Given the description of an element on the screen output the (x, y) to click on. 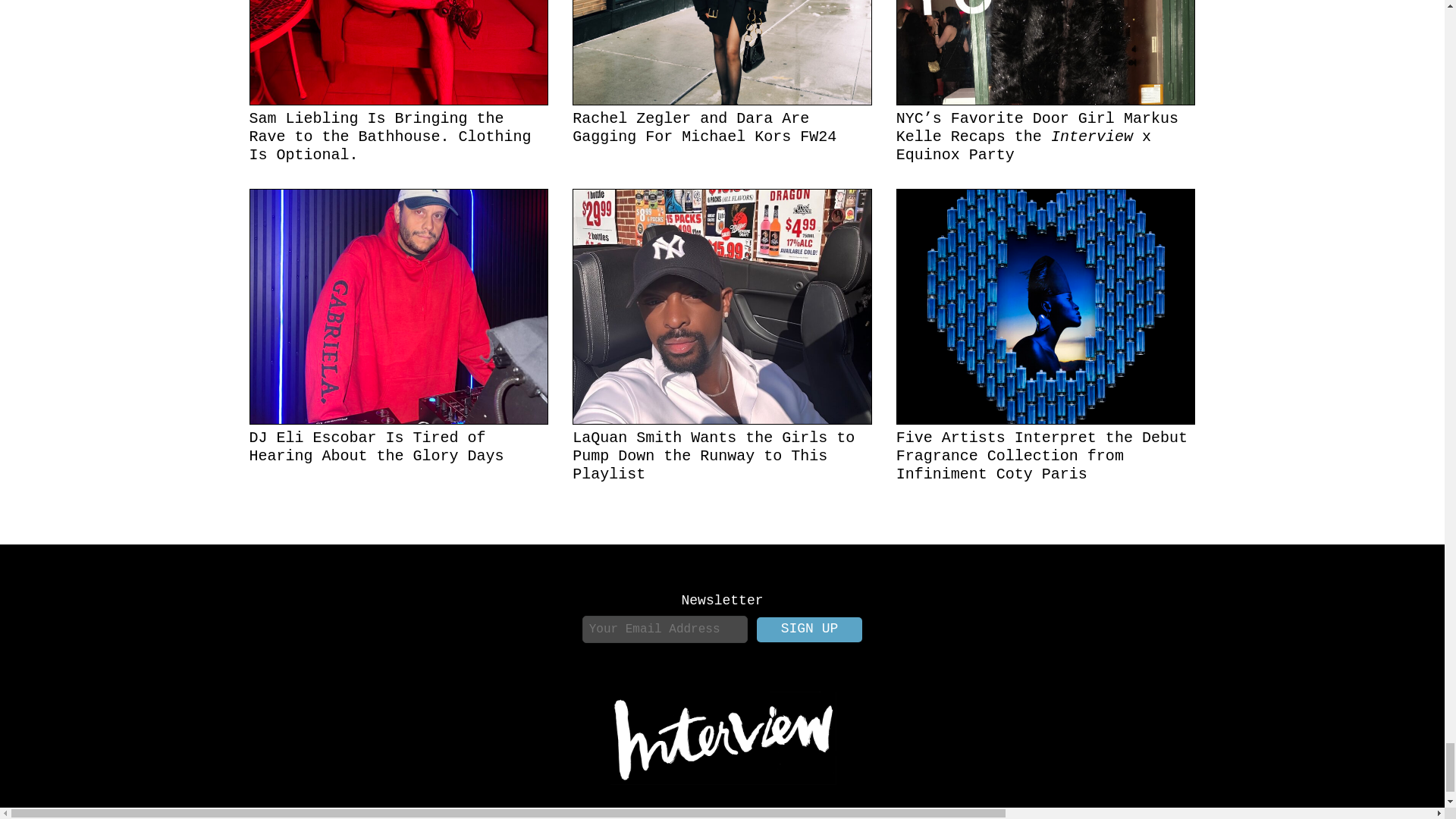
Sign up (810, 629)
